Given the description of an element on the screen output the (x, y) to click on. 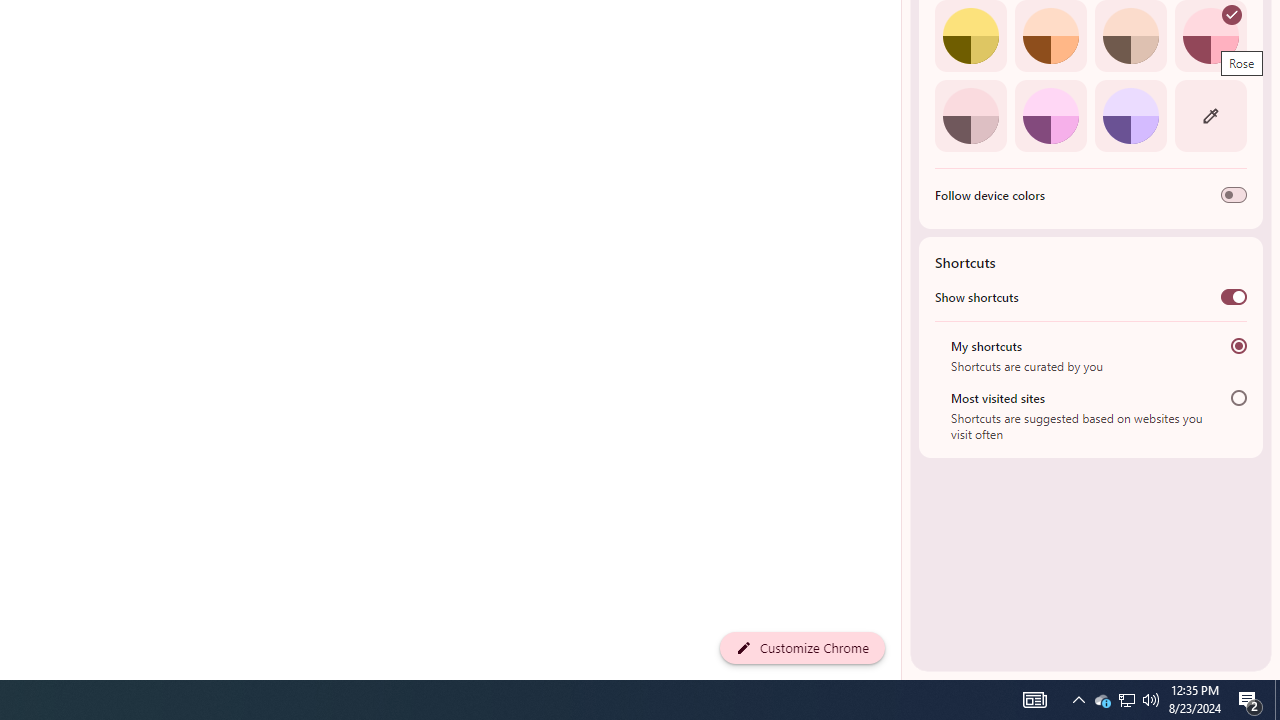
Show shortcuts (1233, 296)
